Given the description of an element on the screen output the (x, y) to click on. 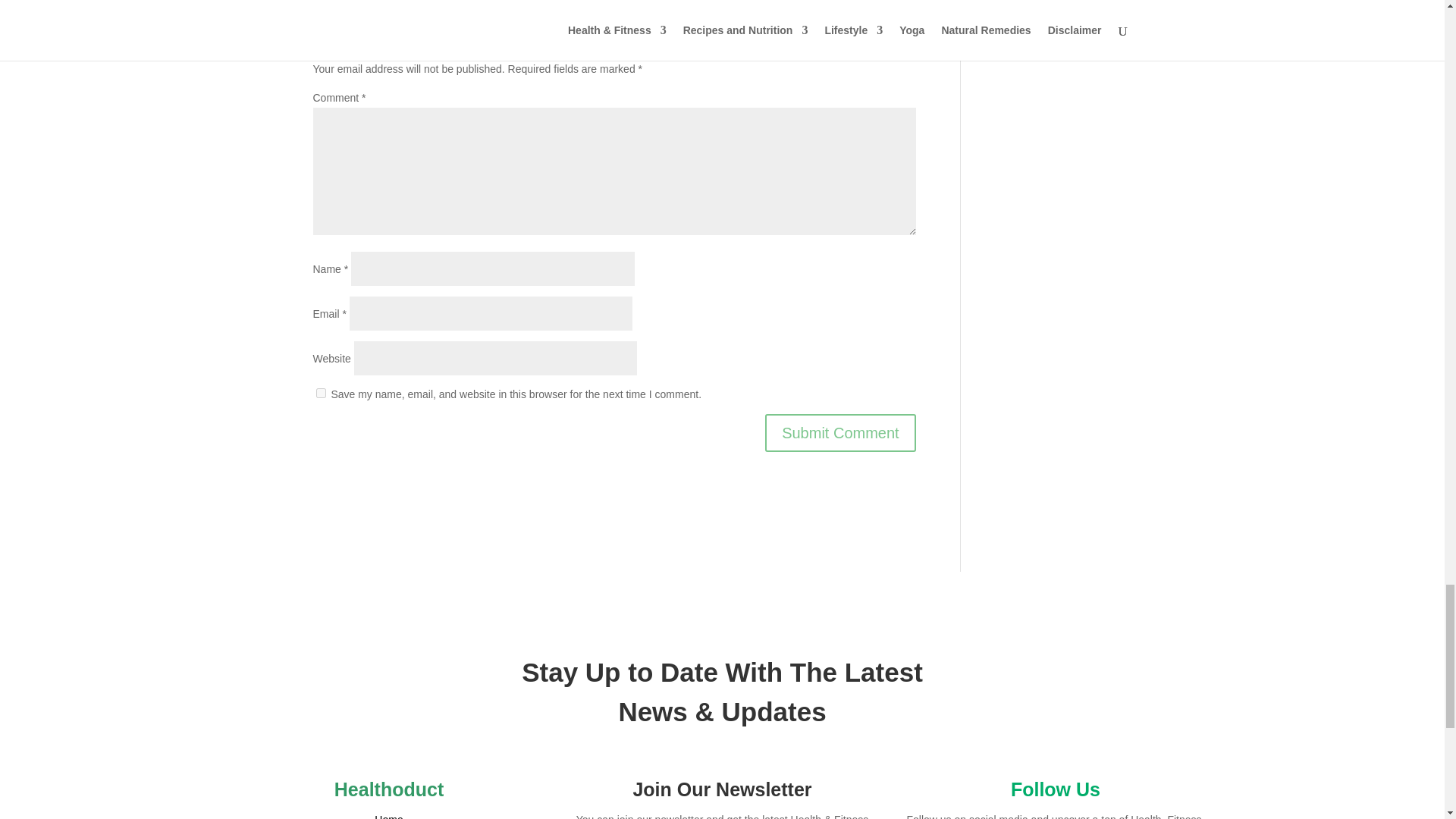
Submit Comment (840, 433)
yes (319, 393)
Submit Comment (840, 433)
